Given the description of an element on the screen output the (x, y) to click on. 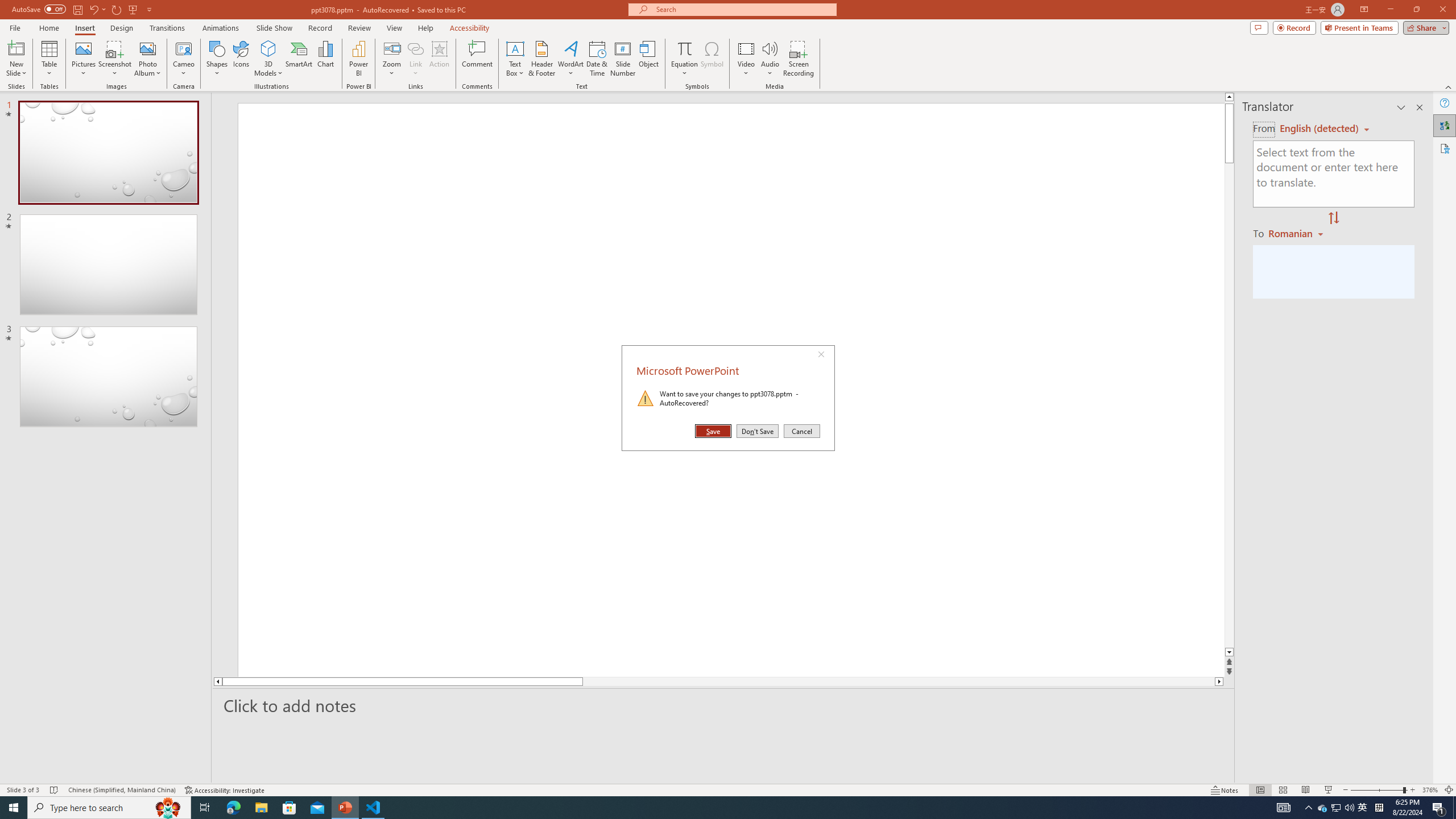
Chart... (325, 58)
WordArt (570, 58)
Romanian (1296, 232)
Warning Icon (645, 398)
Microsoft Edge (233, 807)
Audio (769, 58)
Pictures (83, 58)
